Given the description of an element on the screen output the (x, y) to click on. 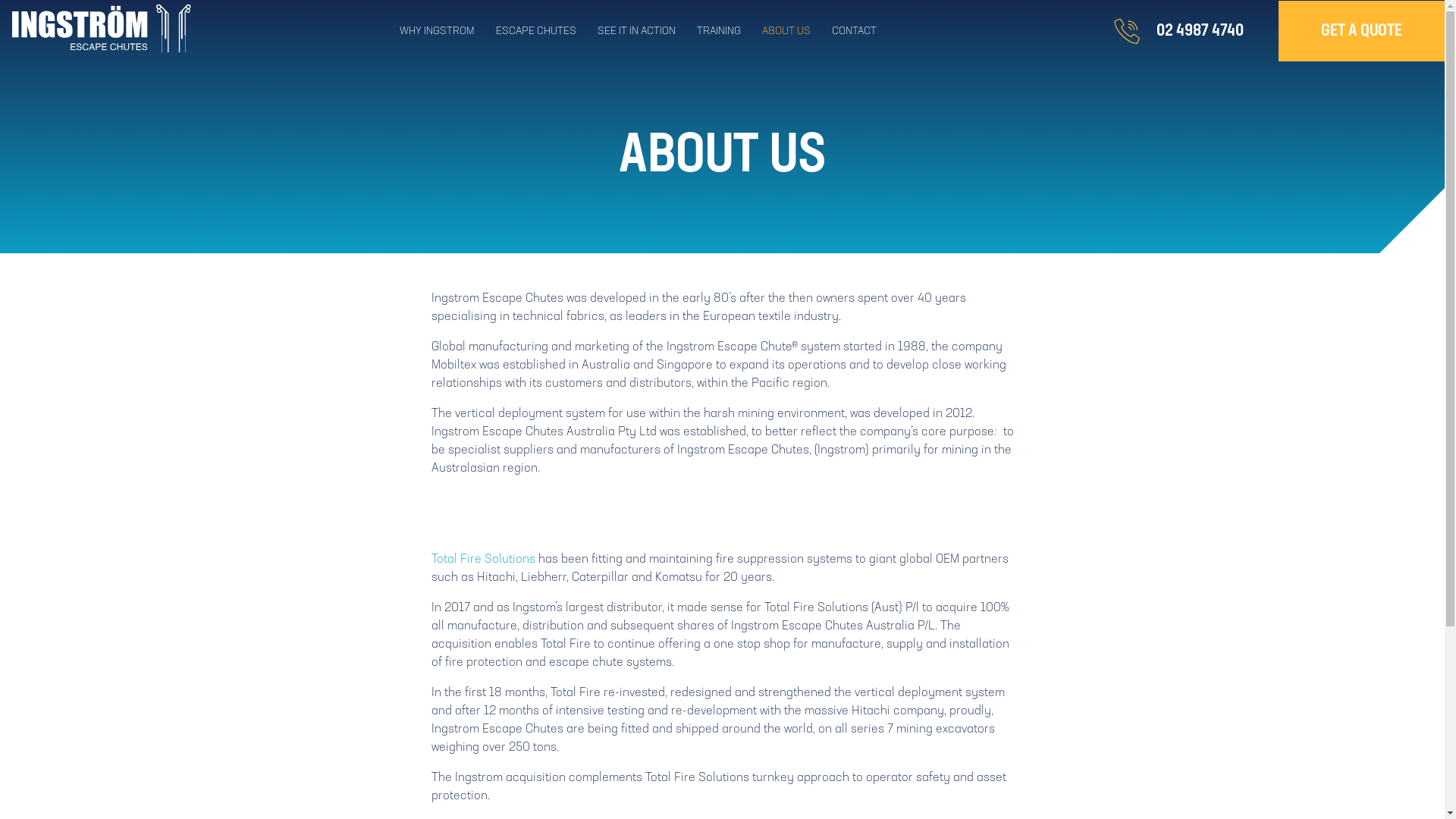
GET A QUOTE Element type: text (1361, 30)
ESCAPE CHUTES Element type: text (546, 30)
ABOUT US Element type: text (796, 30)
Total Fire Solutions Element type: text (482, 559)
TRAINING Element type: text (729, 30)
02 4987 4740 Element type: text (1199, 30)
CONTACT Element type: text (864, 30)
WHY INGSTROM Element type: text (447, 30)
SEE IT IN ACTION Element type: text (646, 30)
